Given the description of an element on the screen output the (x, y) to click on. 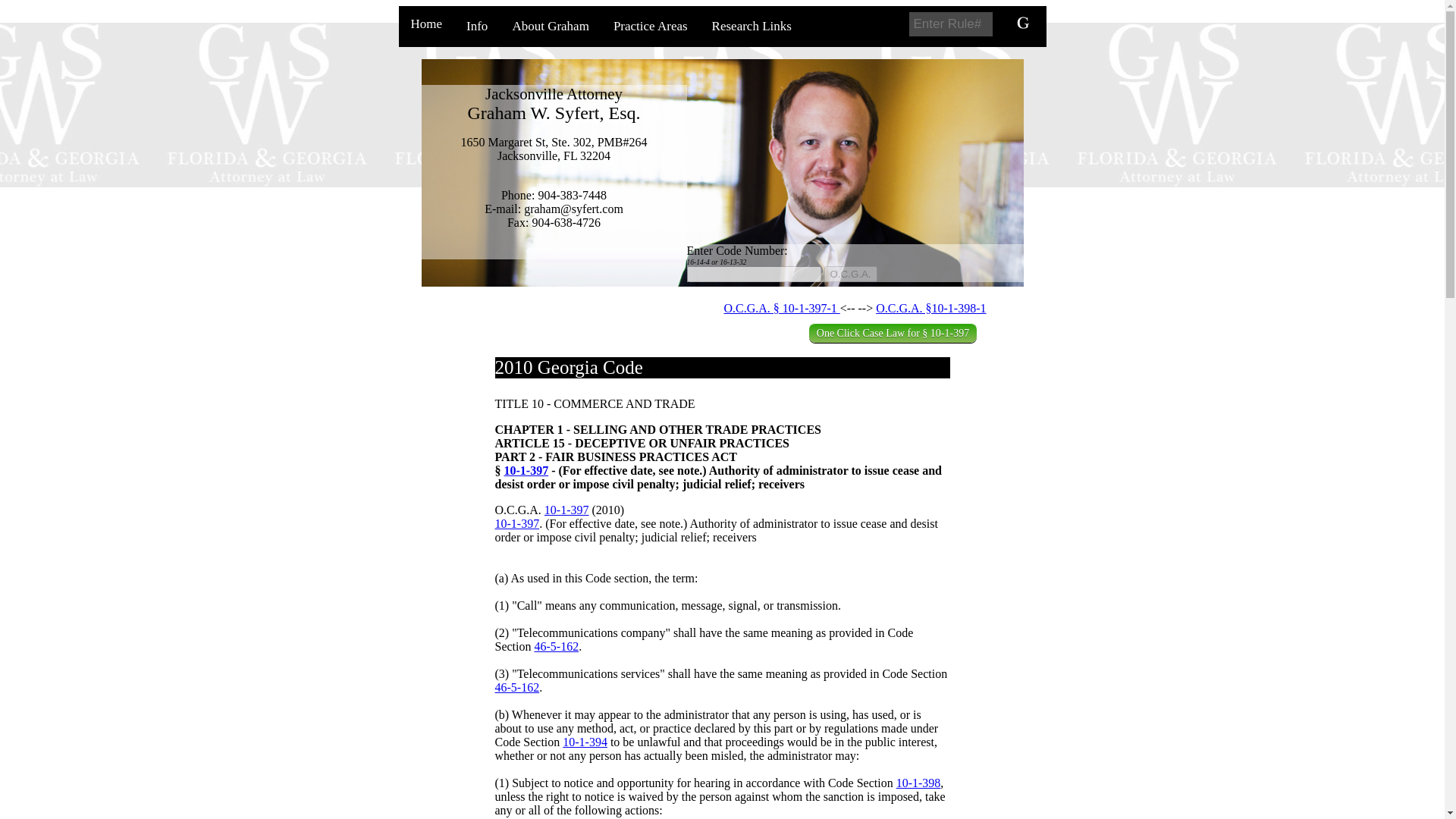
46-5-162 (516, 686)
O.C.G.A. (850, 273)
10-1-397 (525, 470)
46-5-162 (556, 645)
O.C.G.A. (850, 273)
10-1-397 (566, 509)
Practice Areas (650, 25)
Research Links (751, 25)
About Graham (550, 25)
10-1-394 (584, 741)
